Given the description of an element on the screen output the (x, y) to click on. 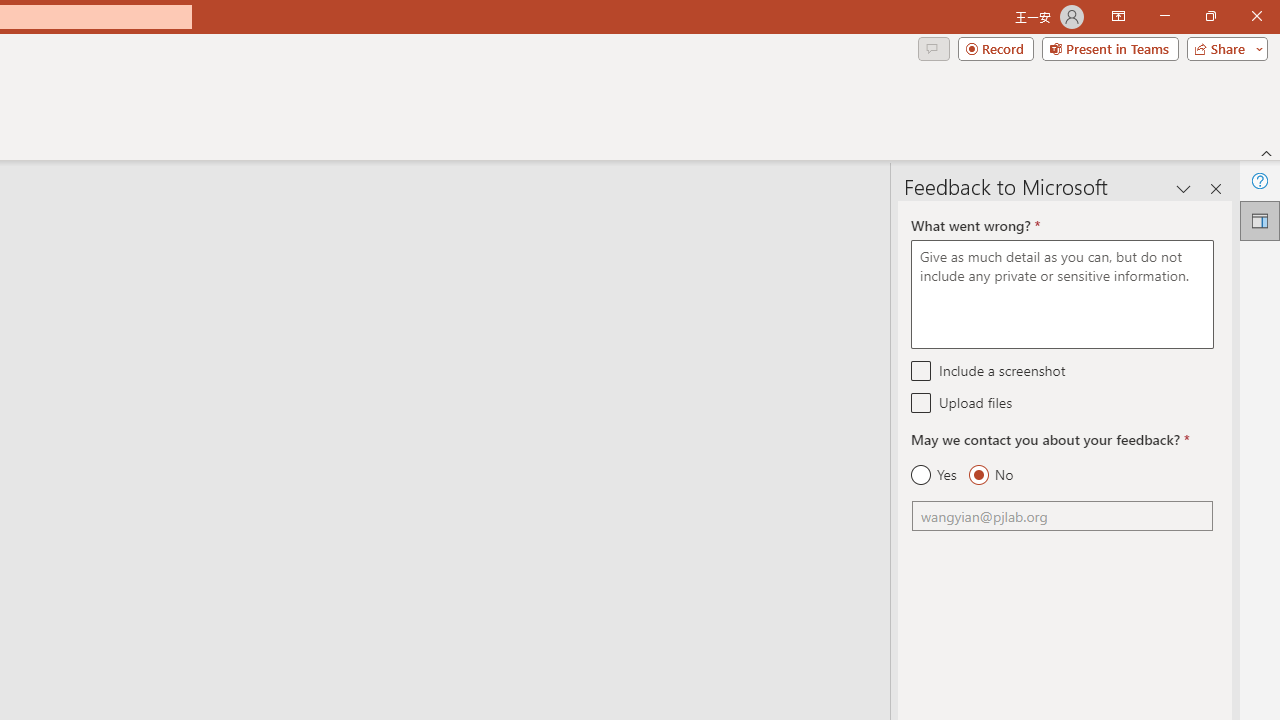
No (990, 475)
